Given the description of an element on the screen output the (x, y) to click on. 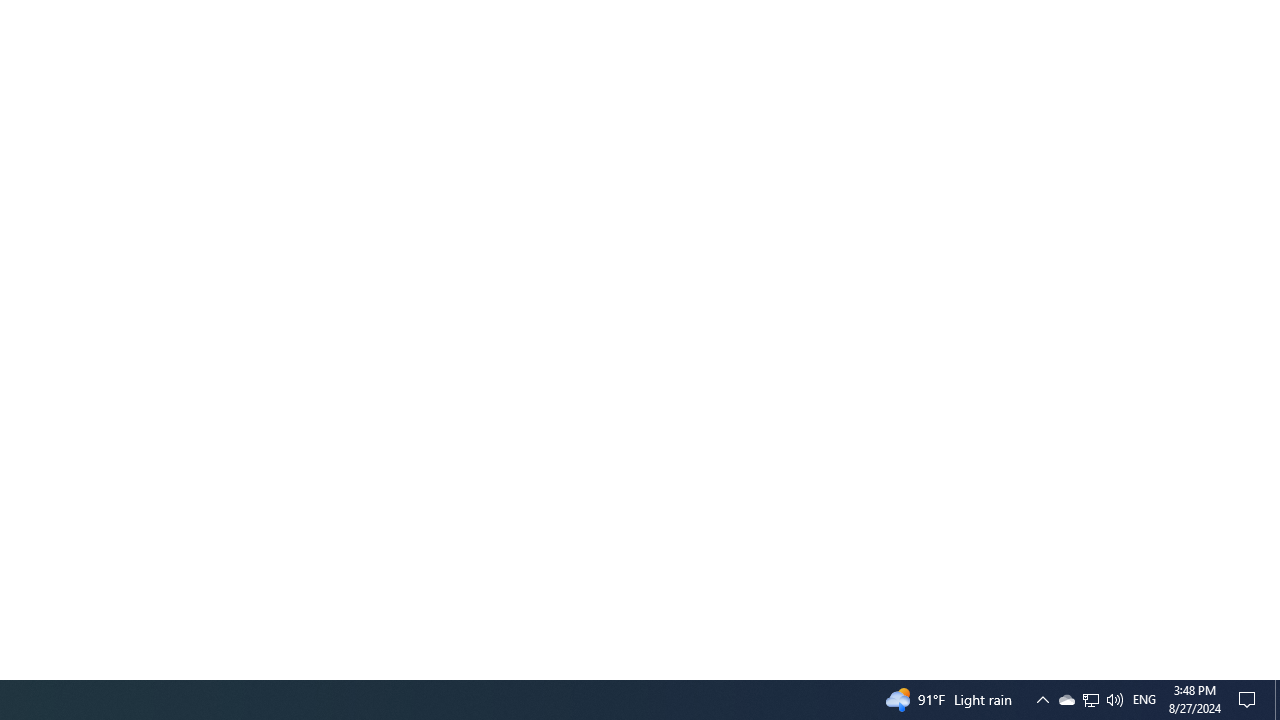
Tray Input Indicator - English (United States) (1144, 699)
